Given the description of an element on the screen output the (x, y) to click on. 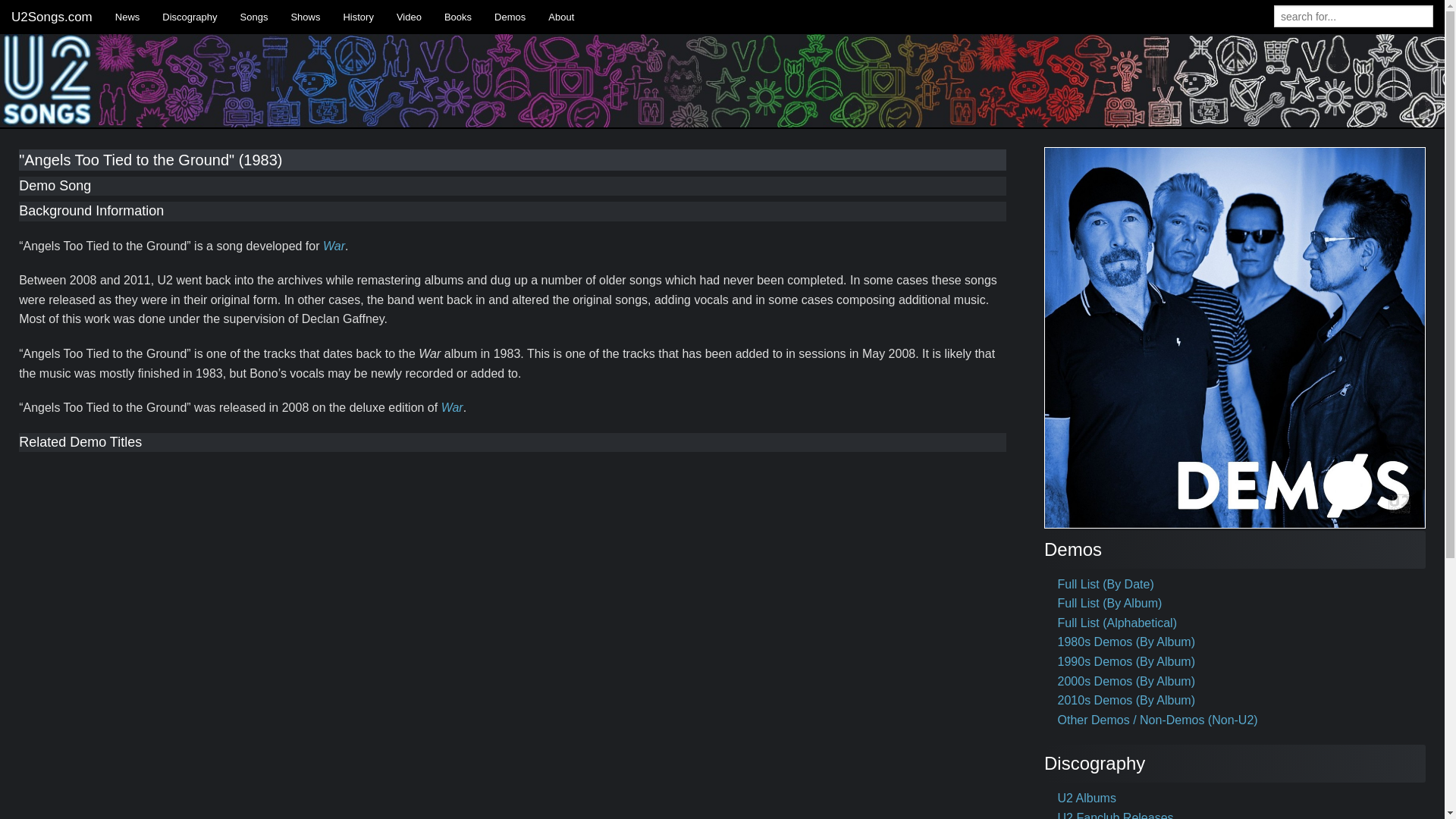
War (452, 407)
About (561, 17)
War (334, 245)
History (357, 17)
Discography (189, 17)
U2 Fanclub Releases (1115, 815)
Songs (253, 17)
News (127, 17)
Video (408, 17)
U2Songs.com (51, 17)
U2 Albums (1087, 797)
Shows (305, 17)
Demos (510, 17)
Books (457, 17)
